Given the description of an element on the screen output the (x, y) to click on. 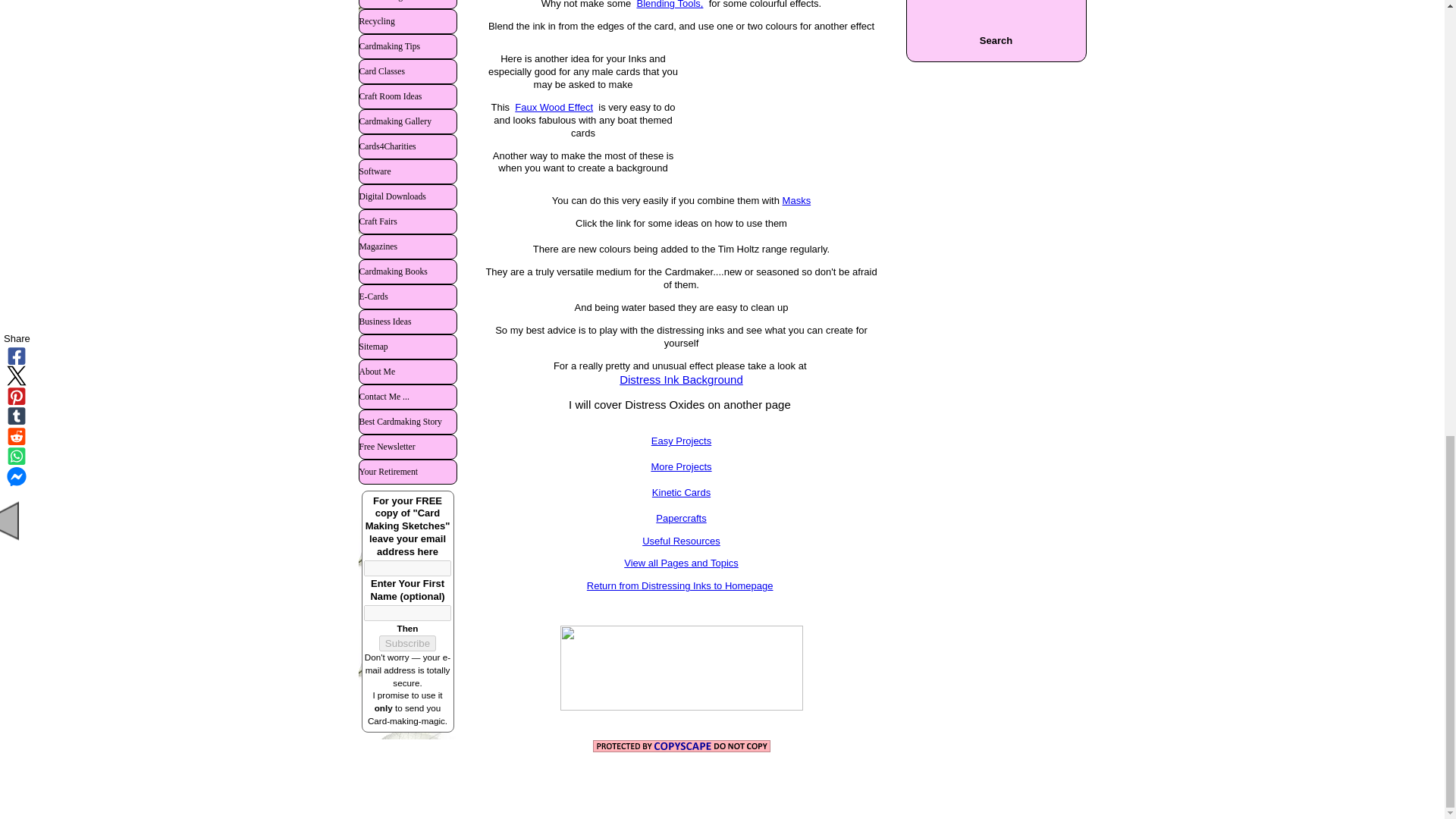
More Projects (680, 473)
Kinetic Cards (681, 498)
Return from Distressing Inks to Homepage (679, 585)
Faux Wood Effect (553, 107)
Papercrafts (681, 518)
Masks (796, 200)
Subscribe (406, 643)
Easy Projects (680, 446)
Blending Tools, (669, 4)
